Given the description of an element on the screen output the (x, y) to click on. 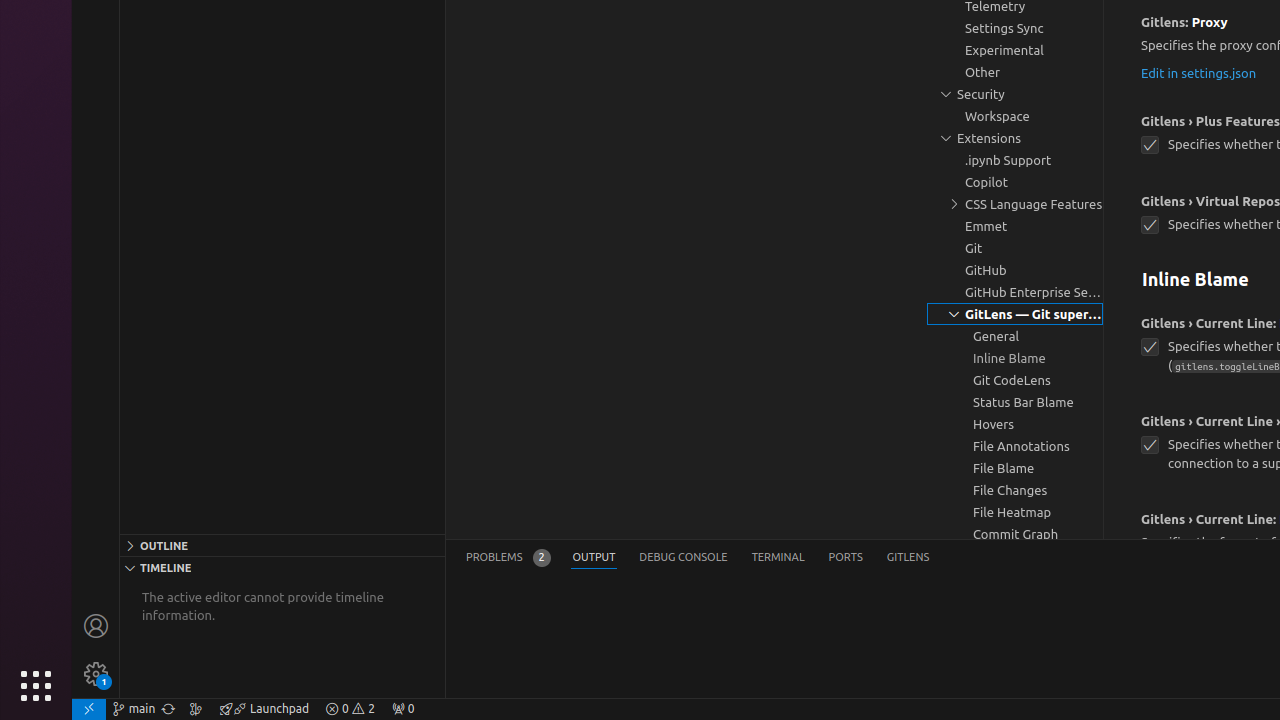
Workspace, group Element type: tree-item (1015, 116)
Git CodeLens, group Element type: tree-item (1015, 379)
Timeline Section Element type: push-button (282, 567)
File Changes, group Element type: tree-item (1015, 490)
Copilot, group Element type: tree-item (1015, 182)
